Given the description of an element on the screen output the (x, y) to click on. 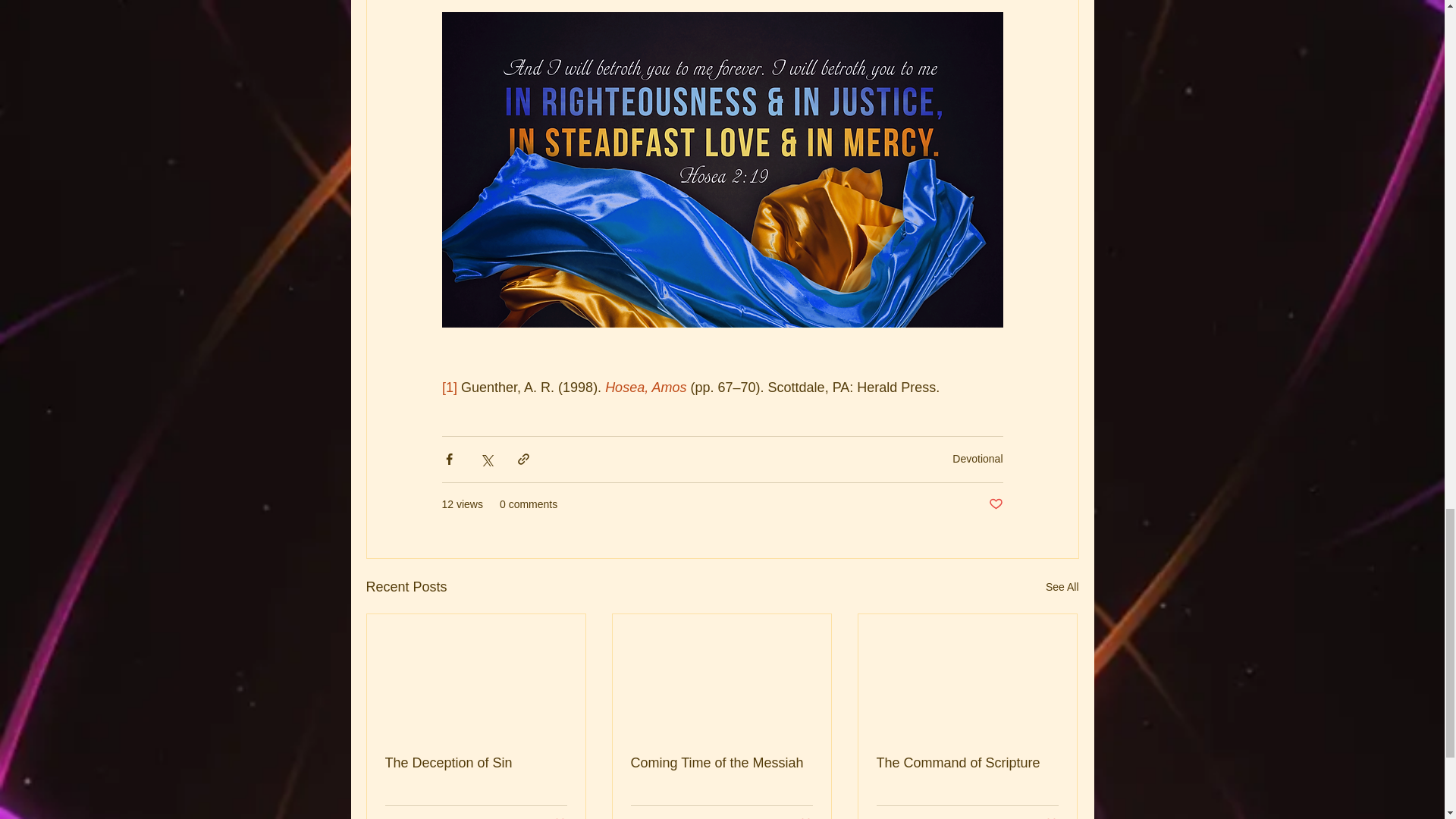
0 (445, 817)
Hosea, Amos (645, 387)
Coming Time of the Messiah (721, 763)
The Deception of Sin (476, 763)
Post not marked as liked (995, 504)
0 (685, 817)
Devotional (555, 817)
See All (977, 458)
